Given the description of an element on the screen output the (x, y) to click on. 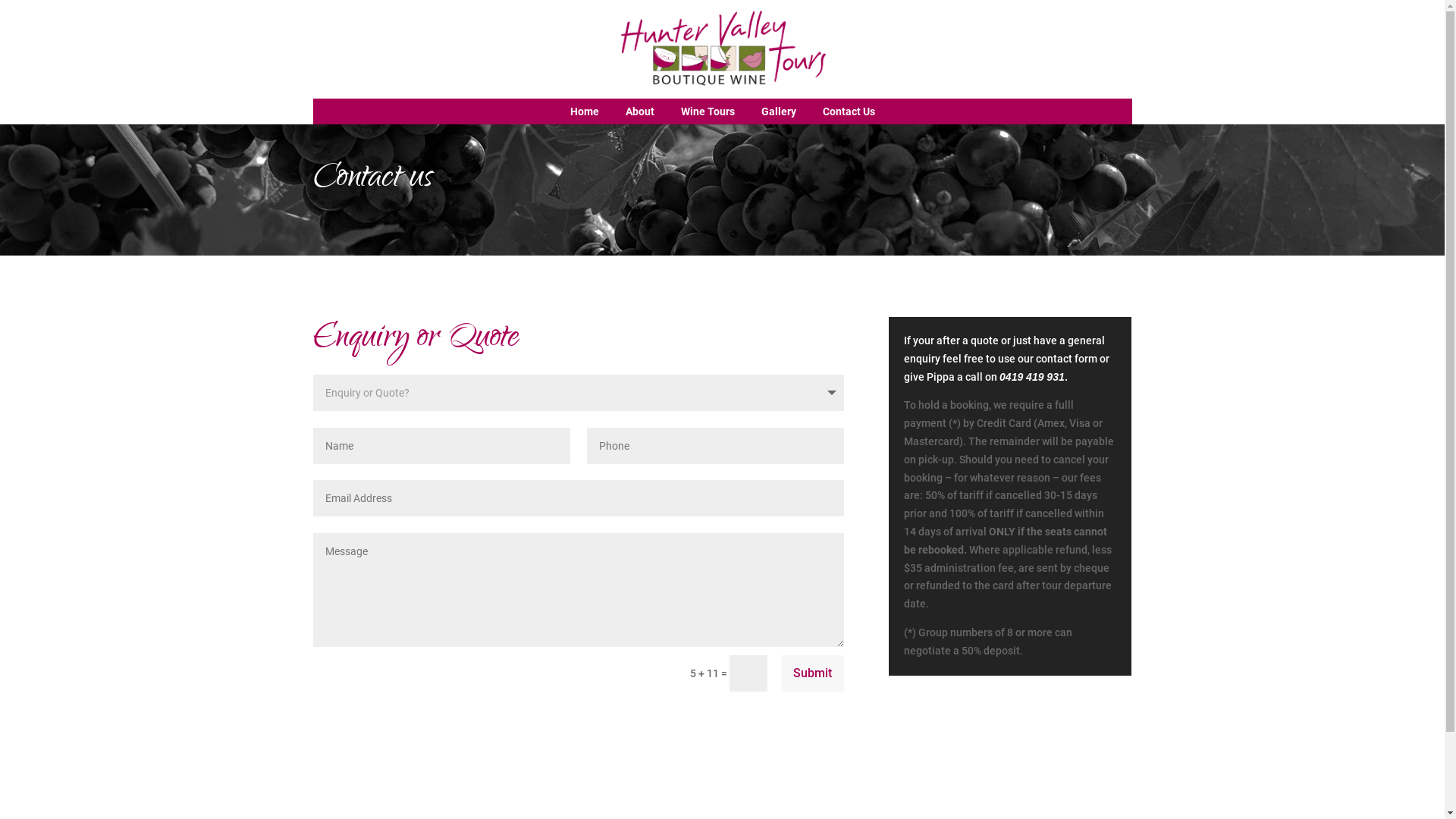
Contact Us Element type: text (848, 111)
Submit Element type: text (812, 673)
Wine Tours Element type: text (707, 111)
About Element type: text (638, 111)
Gallery Element type: text (778, 111)
Home Element type: text (584, 111)
